Given the description of an element on the screen output the (x, y) to click on. 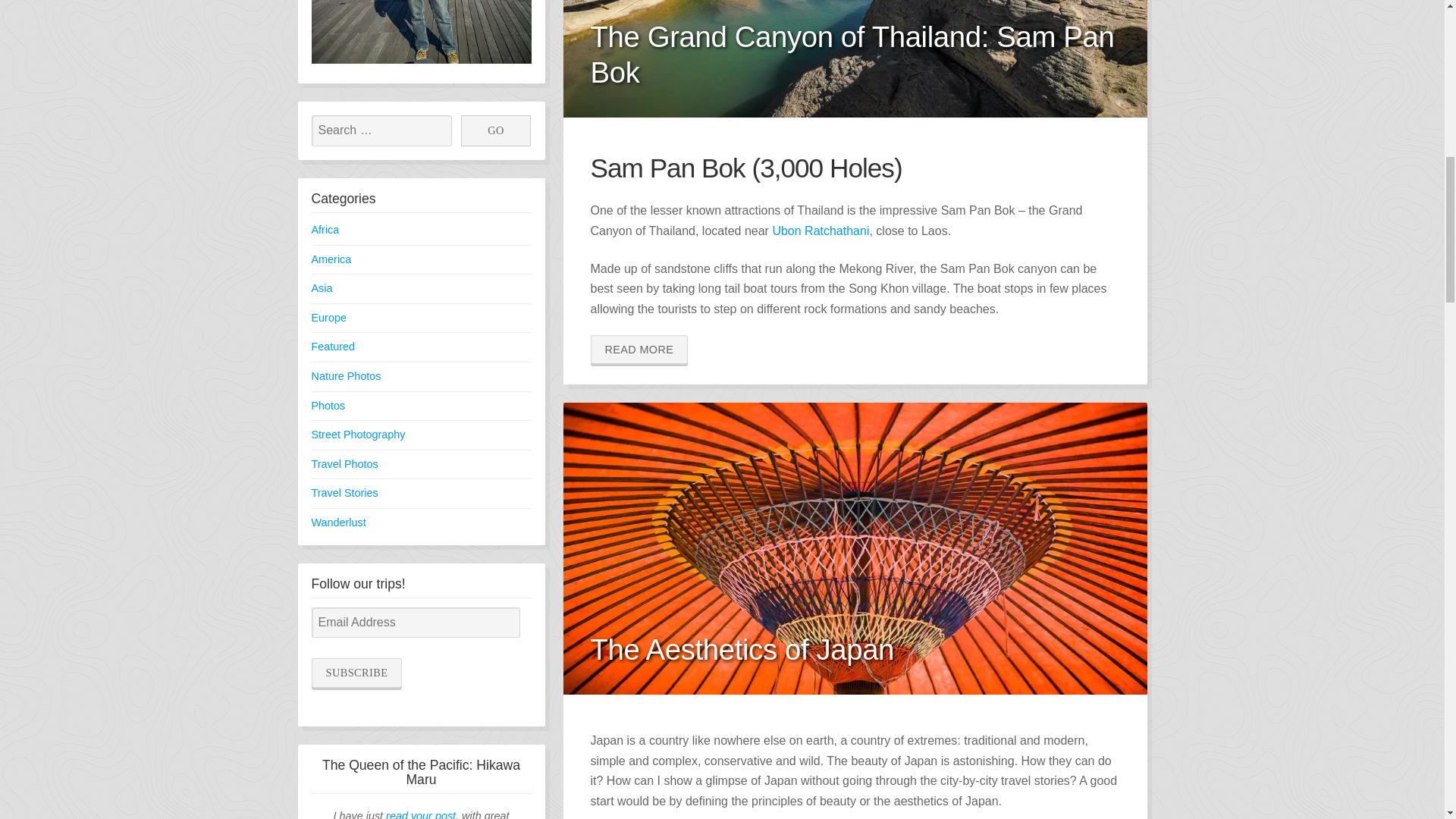
Nature Photos (345, 376)
read your post (420, 814)
Wanderlust (338, 522)
Travel Stories (344, 492)
Go (496, 130)
SUBSCRIBE (356, 672)
Africa (325, 229)
Europe (328, 317)
Street Photography (357, 434)
Go (496, 130)
America (330, 259)
Permalink to The Grand Canyon of Thailand: Sam Pan Bok (854, 58)
Asia (321, 287)
Featured (333, 346)
Photos (328, 405)
